Given the description of an element on the screen output the (x, y) to click on. 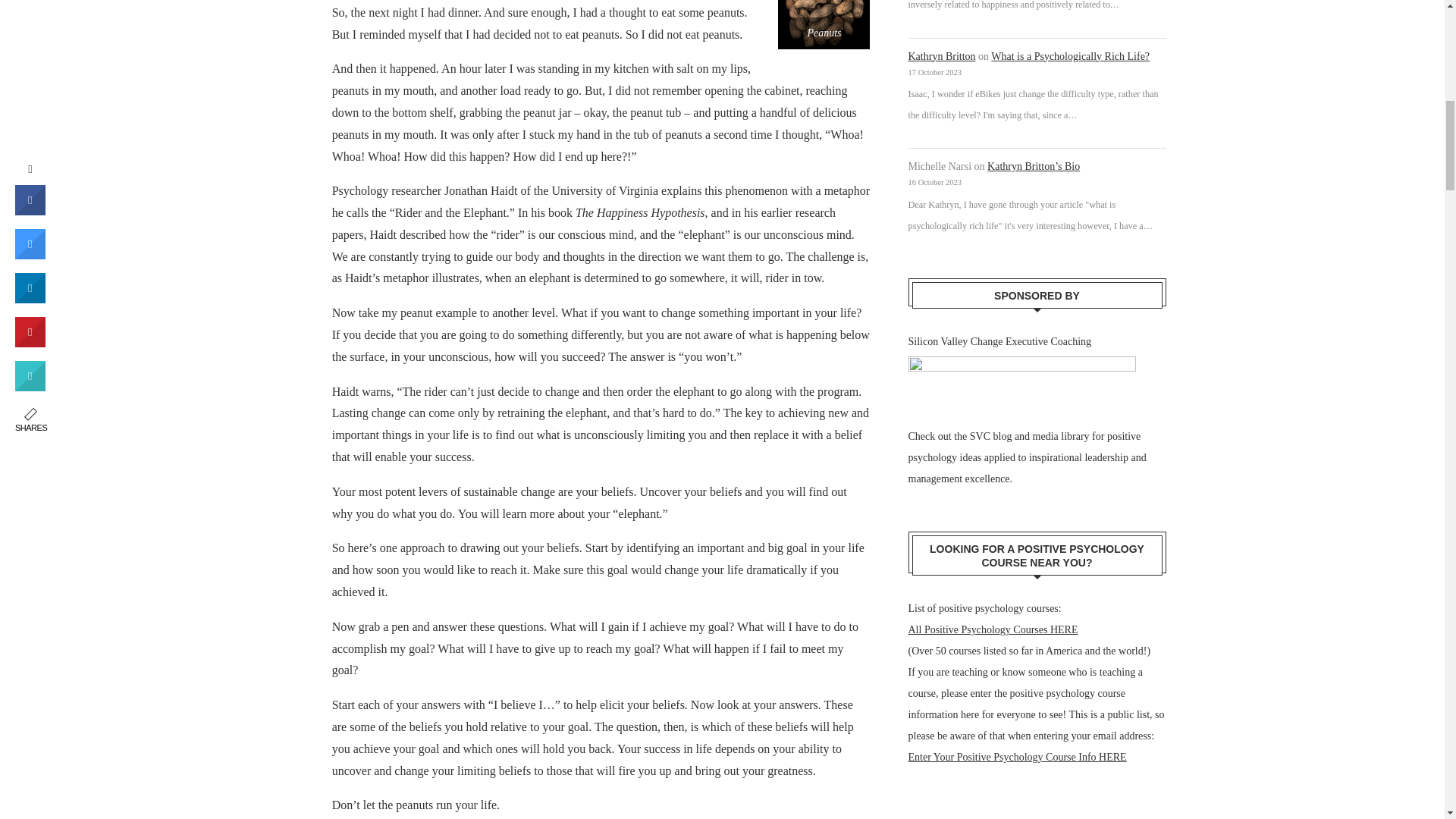
Peanuts (823, 24)
